Given the description of an element on the screen output the (x, y) to click on. 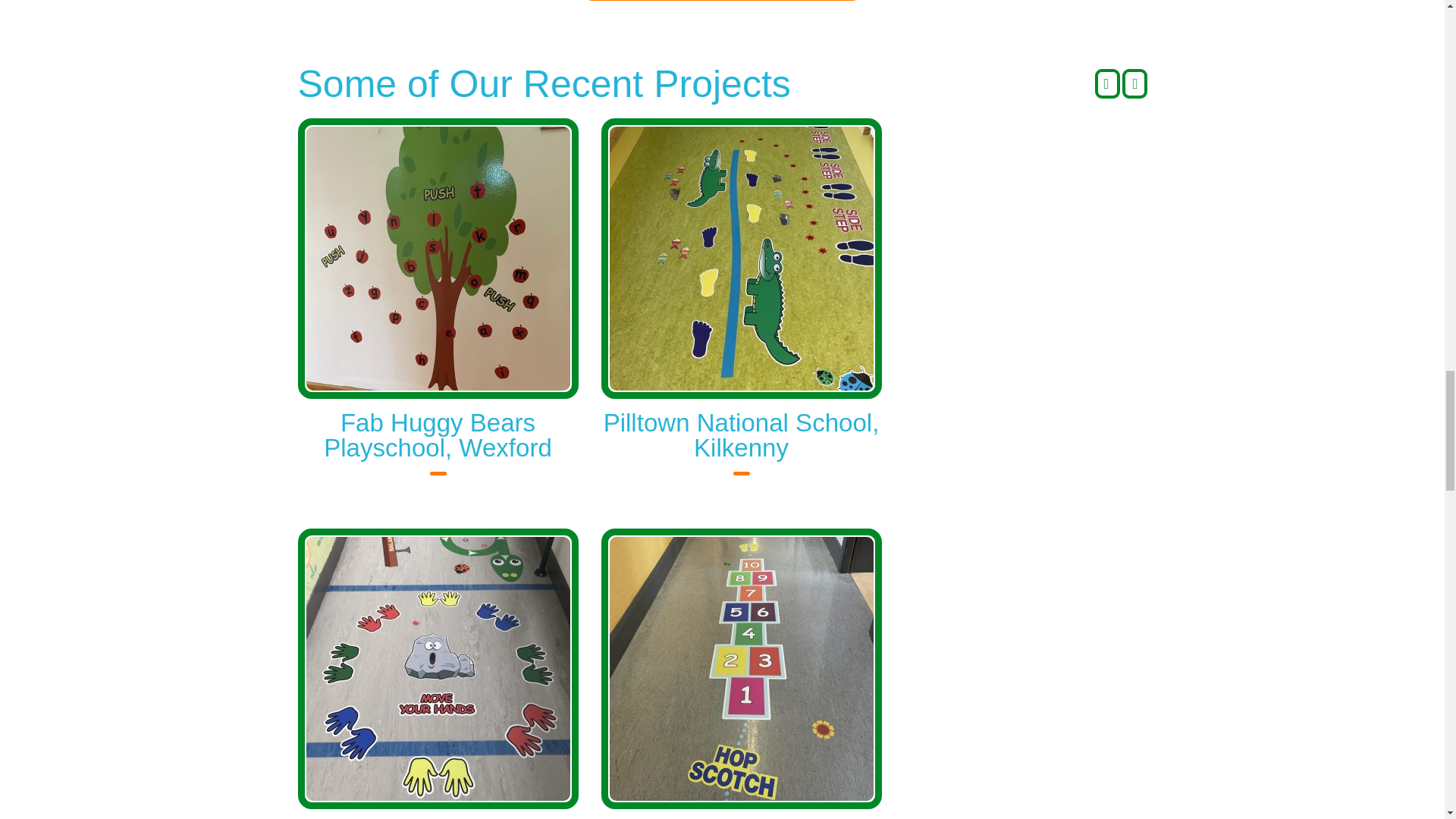
Pilltown National School, Kilkenny (741, 434)
Fab Huggy Bears Playschool, Wexford (437, 434)
